Given the description of an element on the screen output the (x, y) to click on. 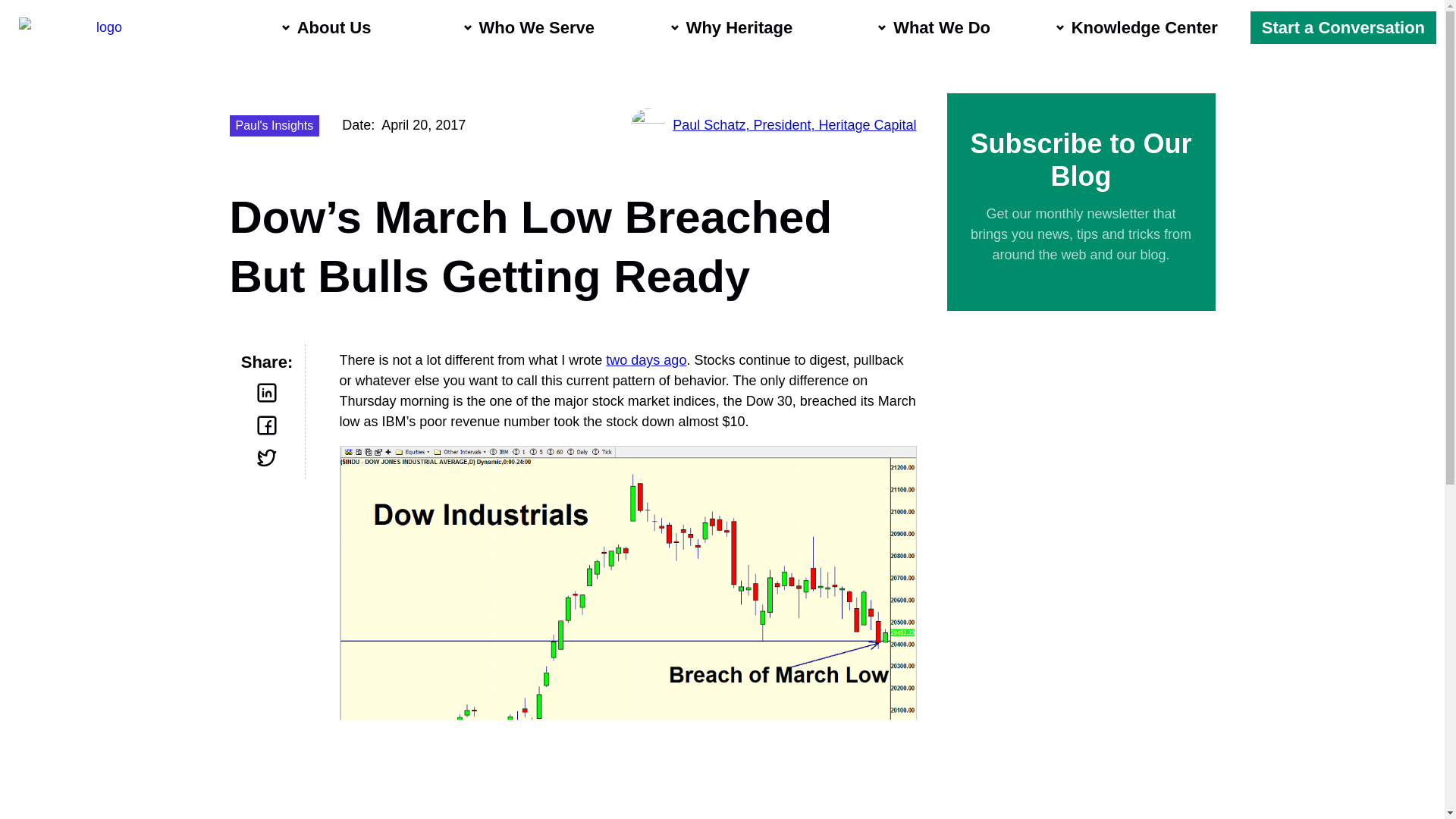
About Us (330, 13)
Knowledge Center (1141, 27)
Why Heritage (735, 28)
What We Do (937, 27)
Who We Serve (533, 25)
Start a Conversation (1342, 27)
